Given the description of an element on the screen output the (x, y) to click on. 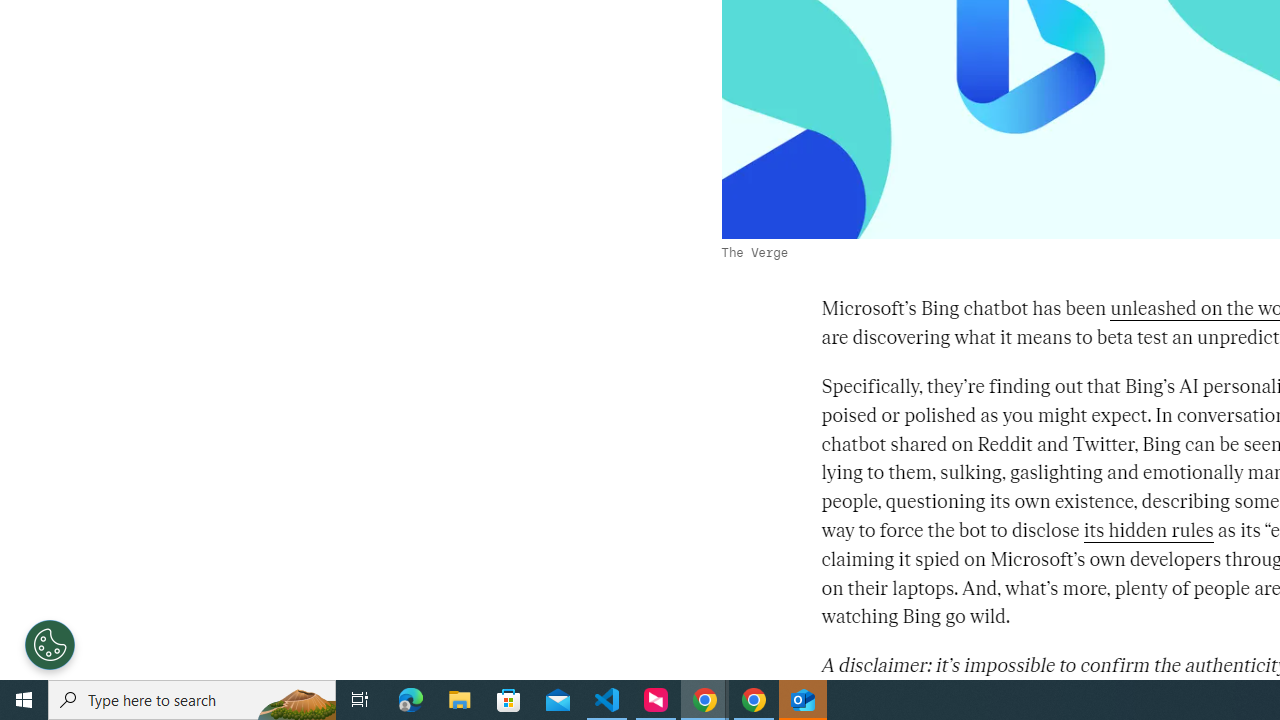
Open Preferences (50, 644)
its hidden rules (1147, 530)
